Given the description of an element on the screen output the (x, y) to click on. 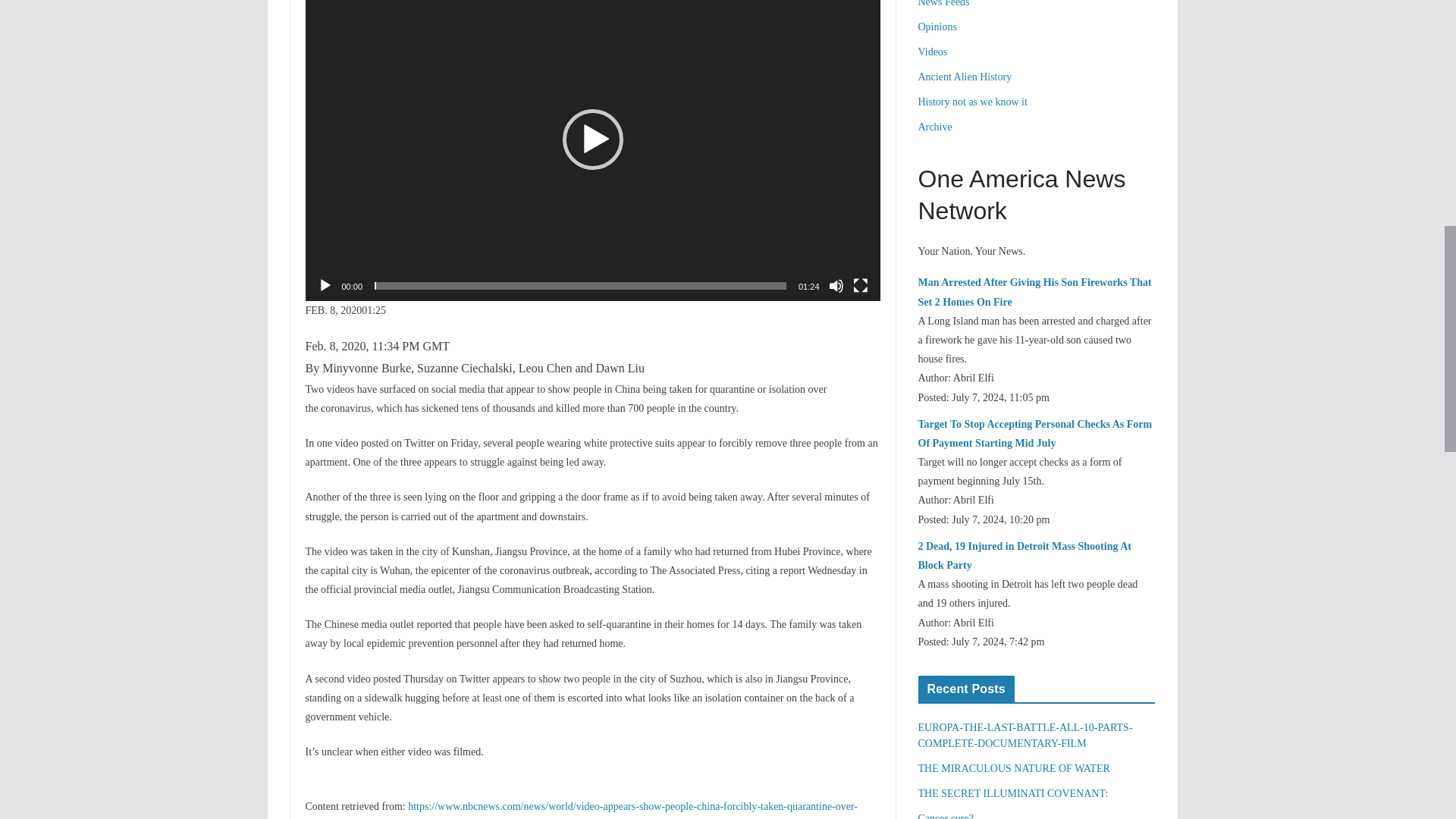
Fullscreen (859, 285)
Mute (835, 285)
Play (324, 285)
